Given the description of an element on the screen output the (x, y) to click on. 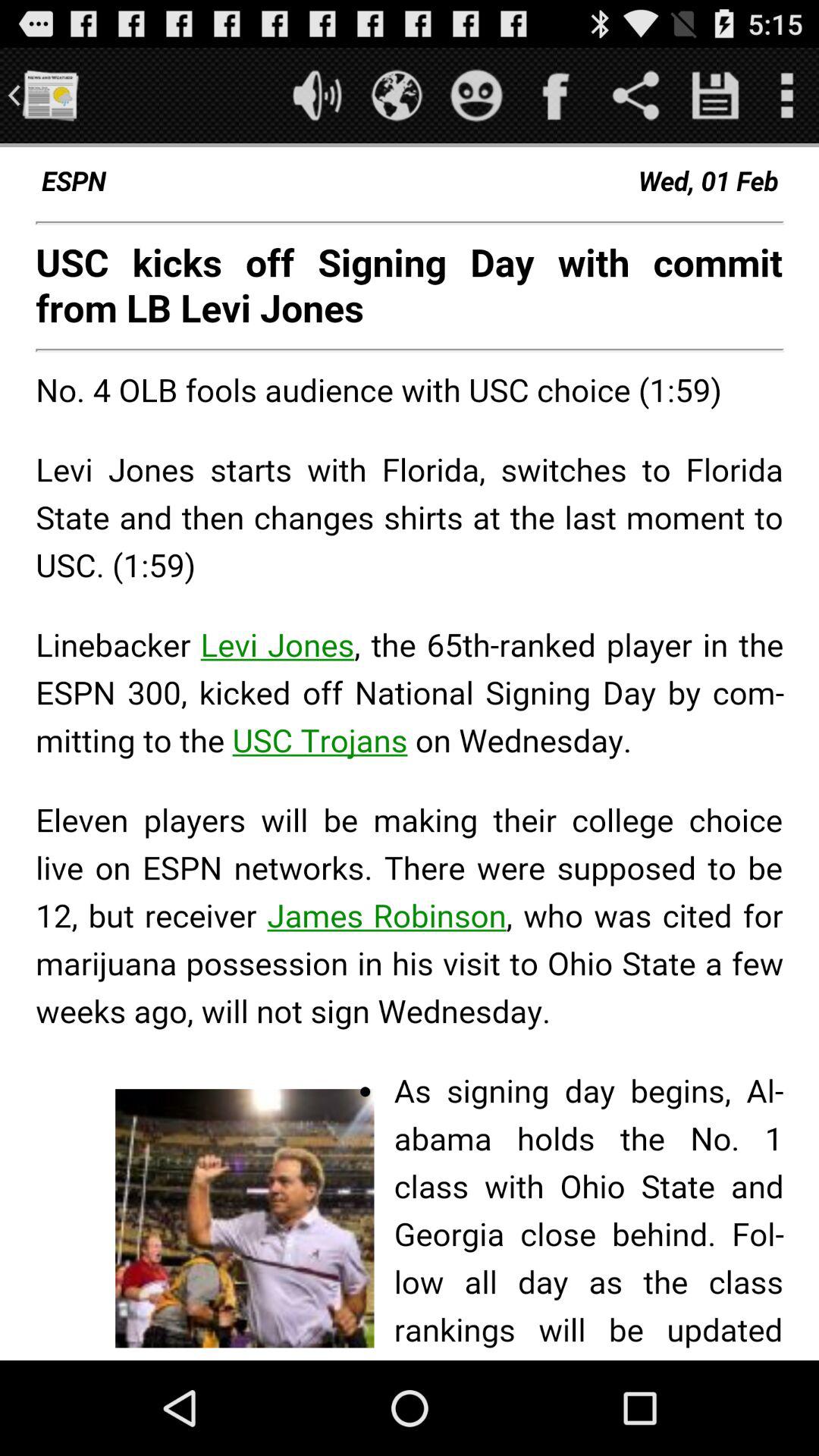
paper option (49, 95)
